Given the description of an element on the screen output the (x, y) to click on. 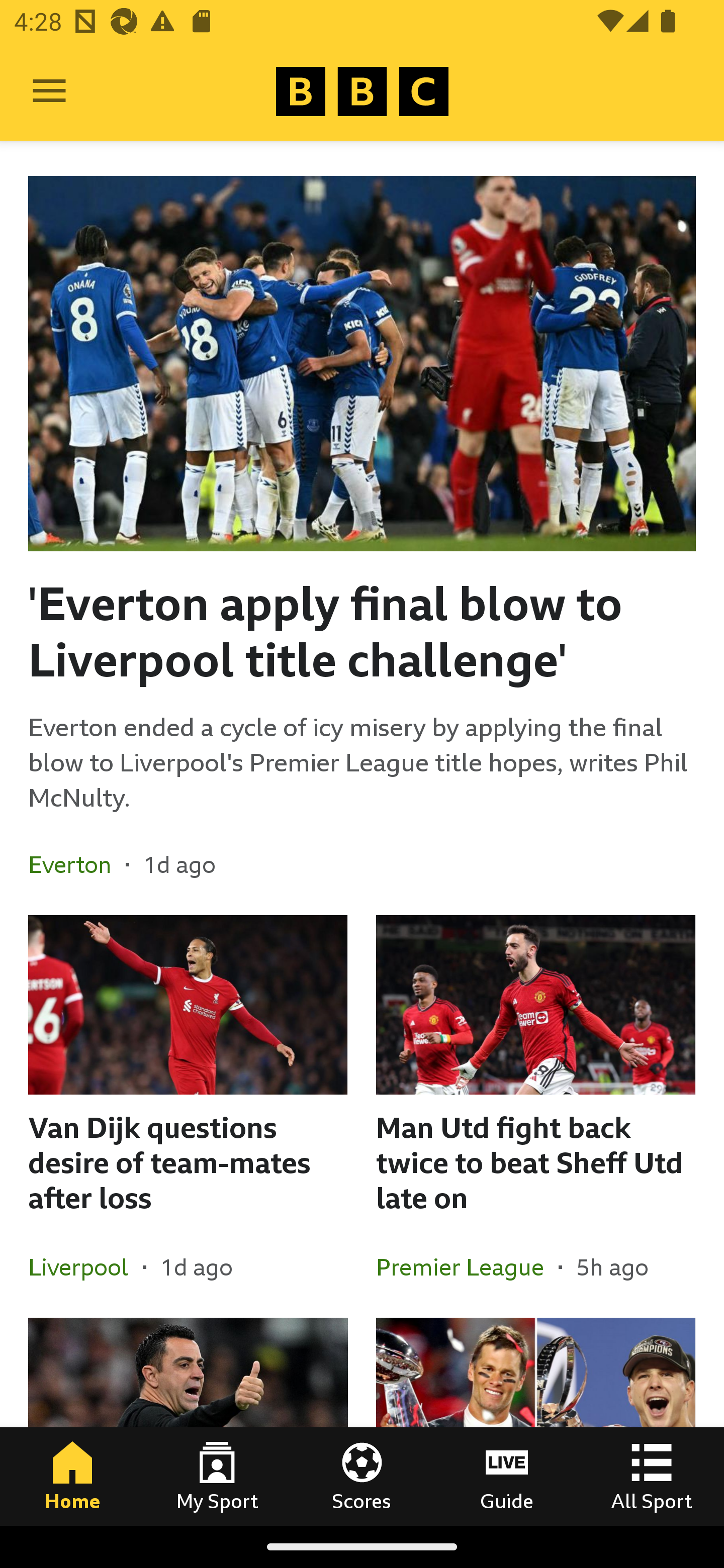
Open Menu (49, 91)
Everton In the section Everton (76, 864)
Liverpool In the section Liverpool (85, 1266)
Premier League In the section Premier League (466, 1266)
My Sport (216, 1475)
Scores (361, 1475)
Guide (506, 1475)
All Sport (651, 1475)
